Given the description of an element on the screen output the (x, y) to click on. 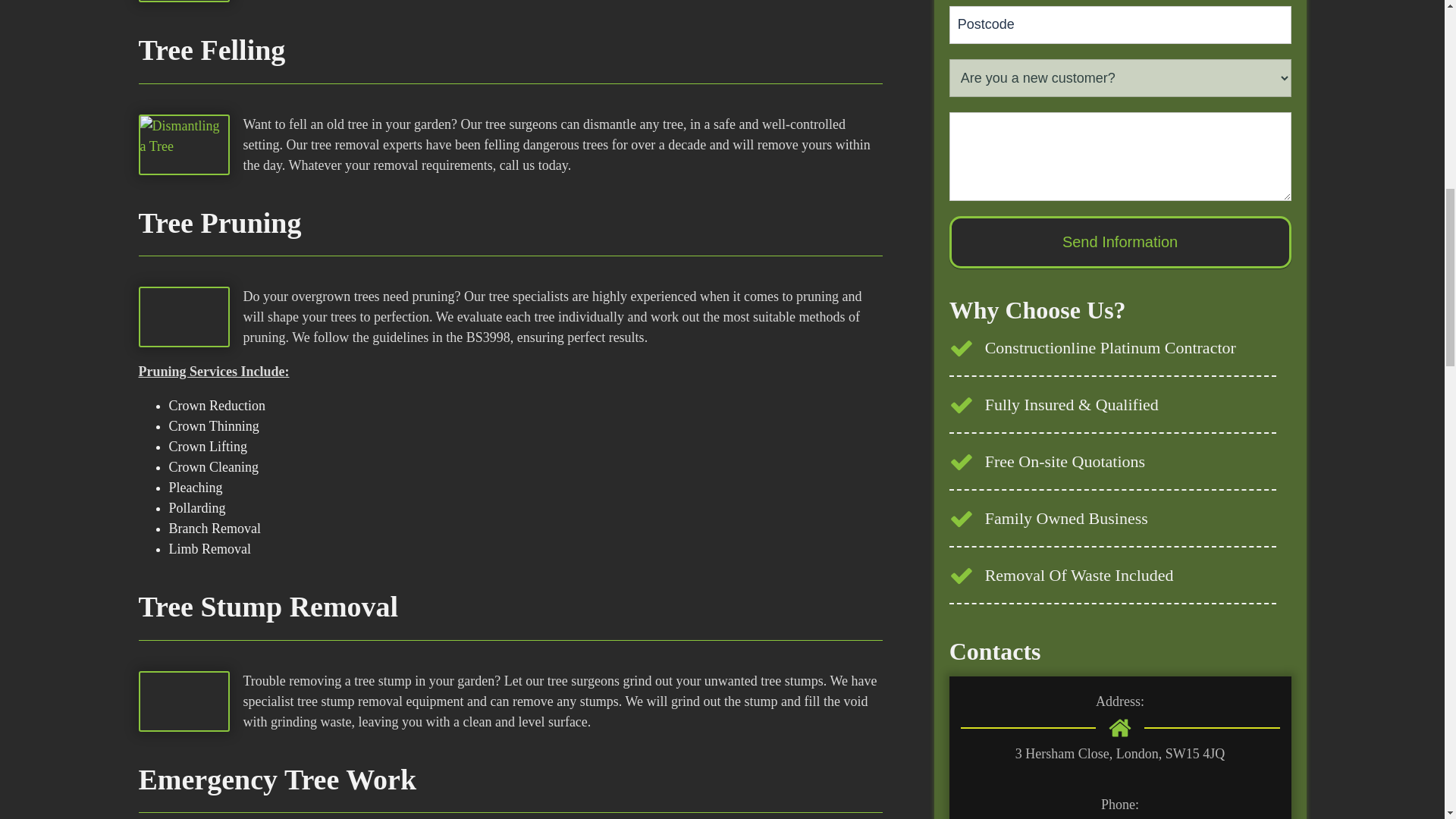
tree felling small (183, 144)
tree stump grinding small (183, 701)
brushwood chipper small (183, 1)
tree pruning small (183, 316)
